Given the description of an element on the screen output the (x, y) to click on. 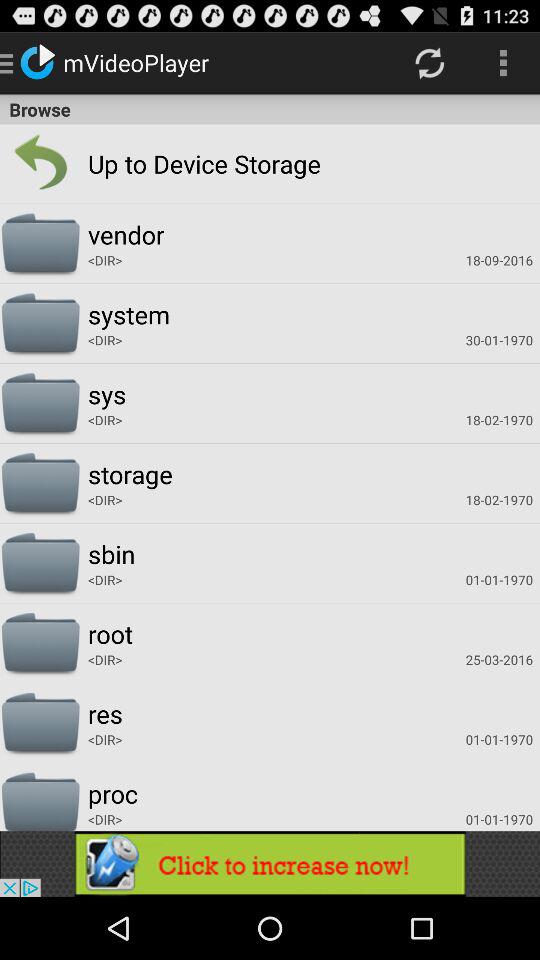
turn off up to storage app (163, 163)
